Given the description of an element on the screen output the (x, y) to click on. 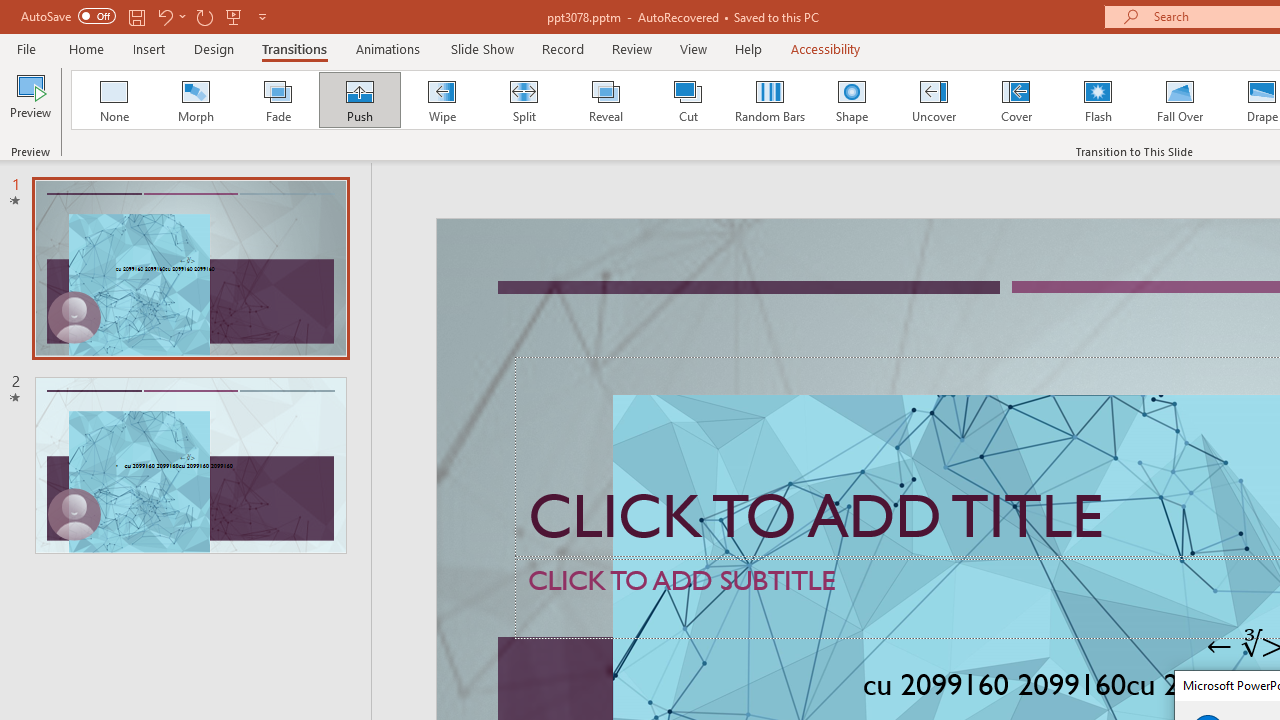
Fade (277, 100)
Wipe (441, 100)
Push (359, 100)
None (113, 100)
